Given the description of an element on the screen output the (x, y) to click on. 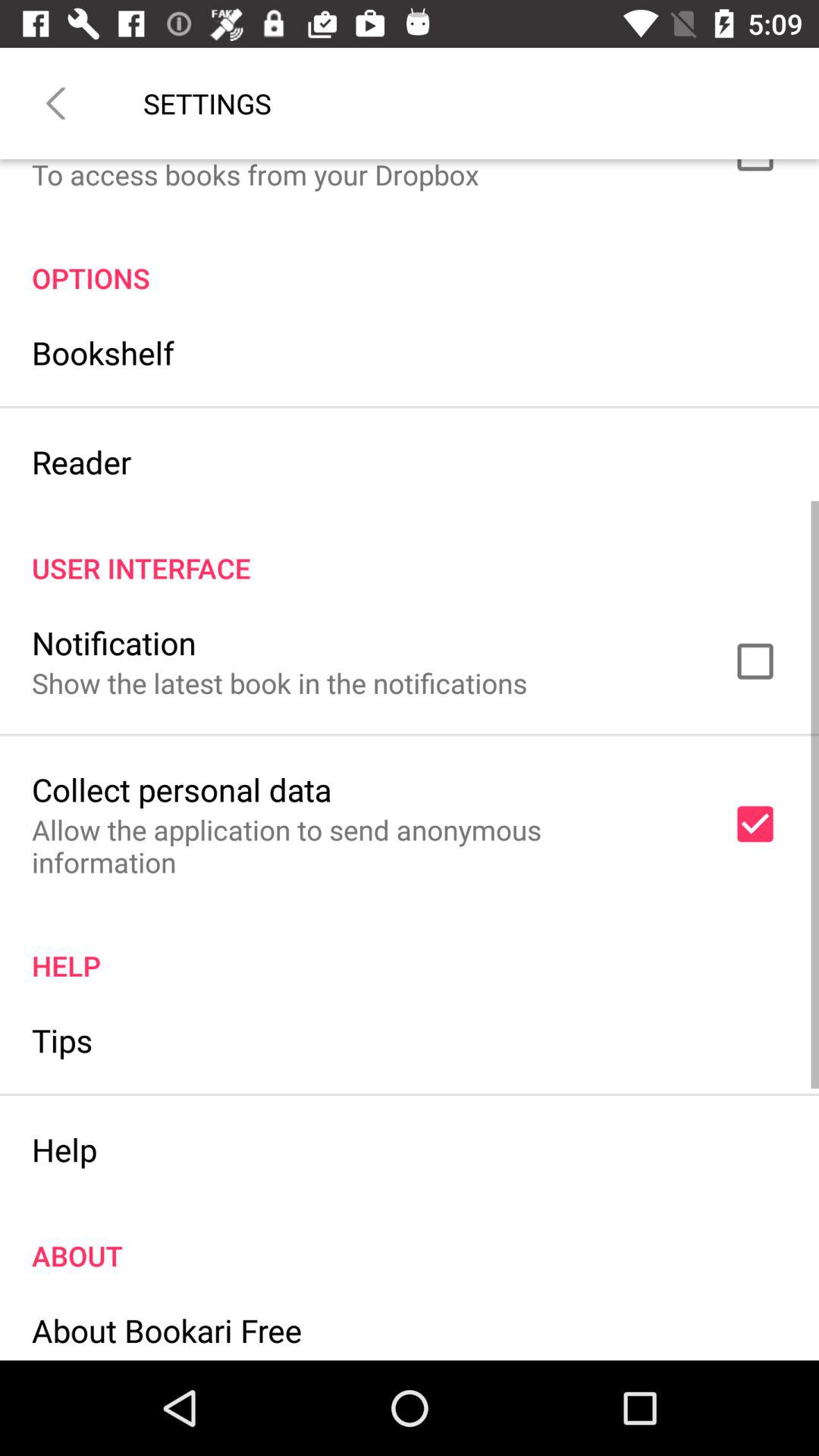
jump to the bookshelf icon (102, 352)
